Given the description of an element on the screen output the (x, y) to click on. 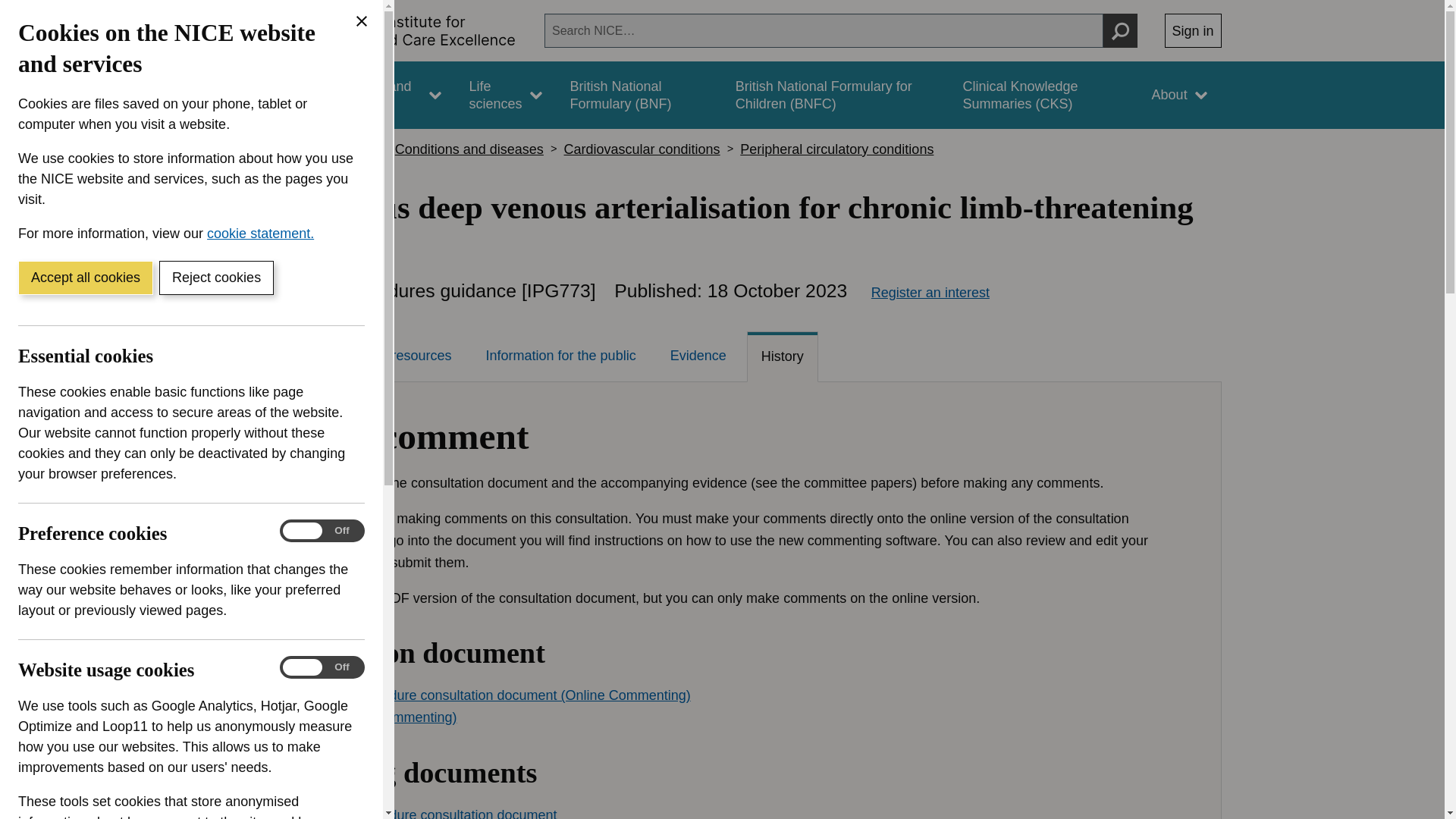
Standards and indicators (381, 94)
Life sciences (505, 94)
Guidance (265, 94)
Reject cookies (215, 277)
Sign in (1192, 30)
Accept all cookies (84, 277)
